Given the description of an element on the screen output the (x, y) to click on. 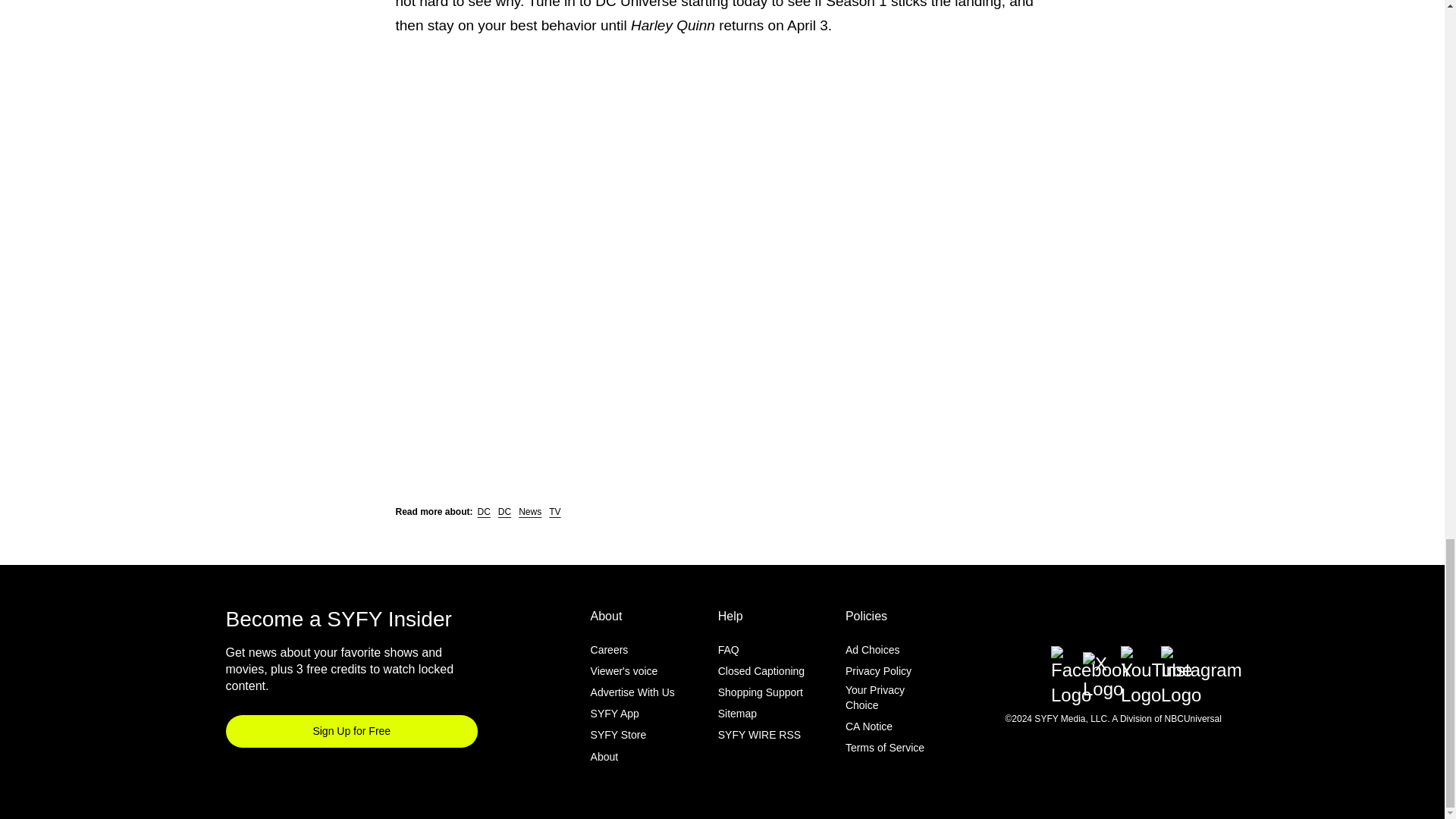
DC (483, 511)
Advertise With Us (633, 692)
TV (554, 511)
DC (504, 511)
News (529, 511)
